Given the description of an element on the screen output the (x, y) to click on. 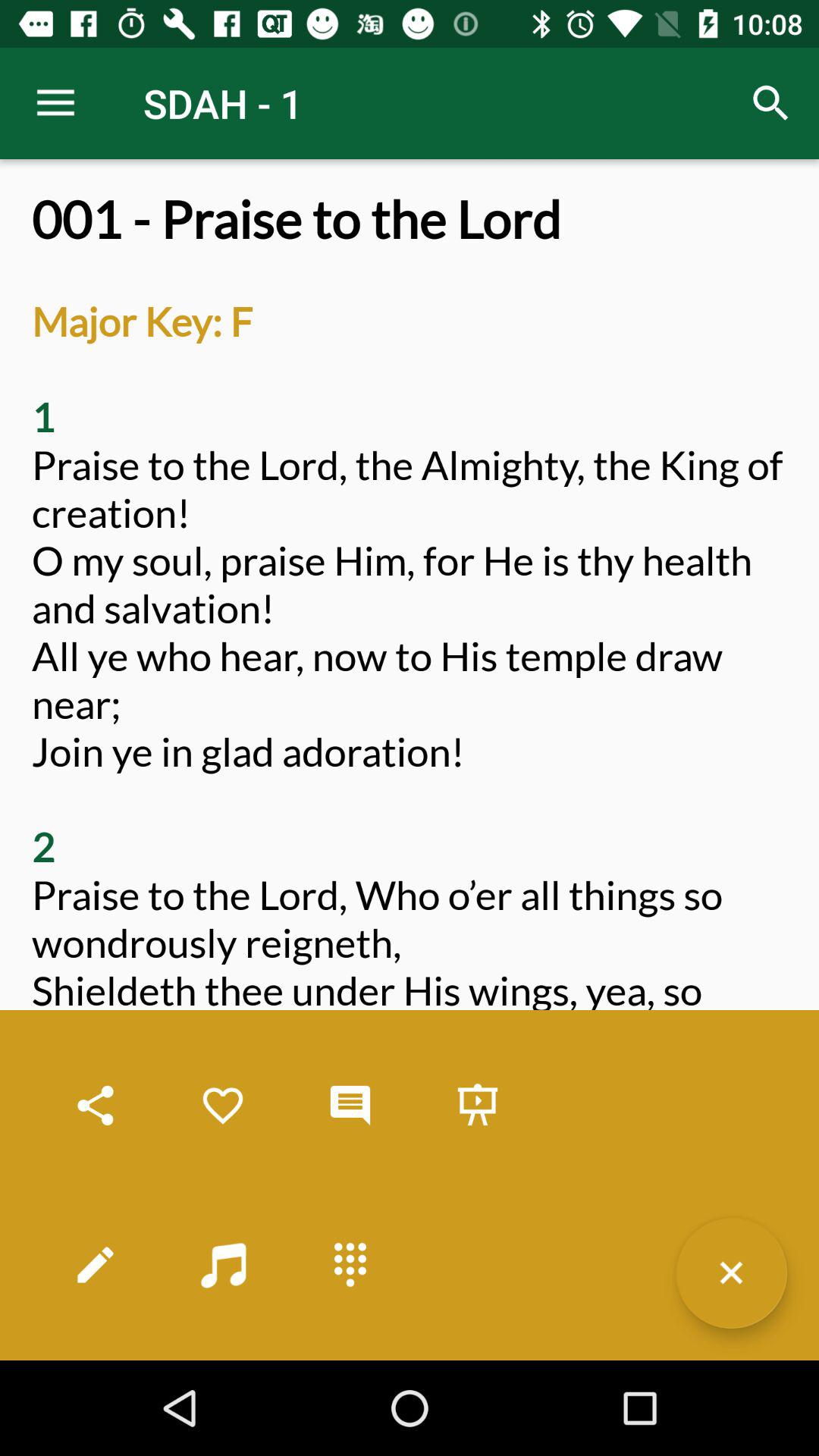
heart emoji (222, 1105)
